Given the description of an element on the screen output the (x, y) to click on. 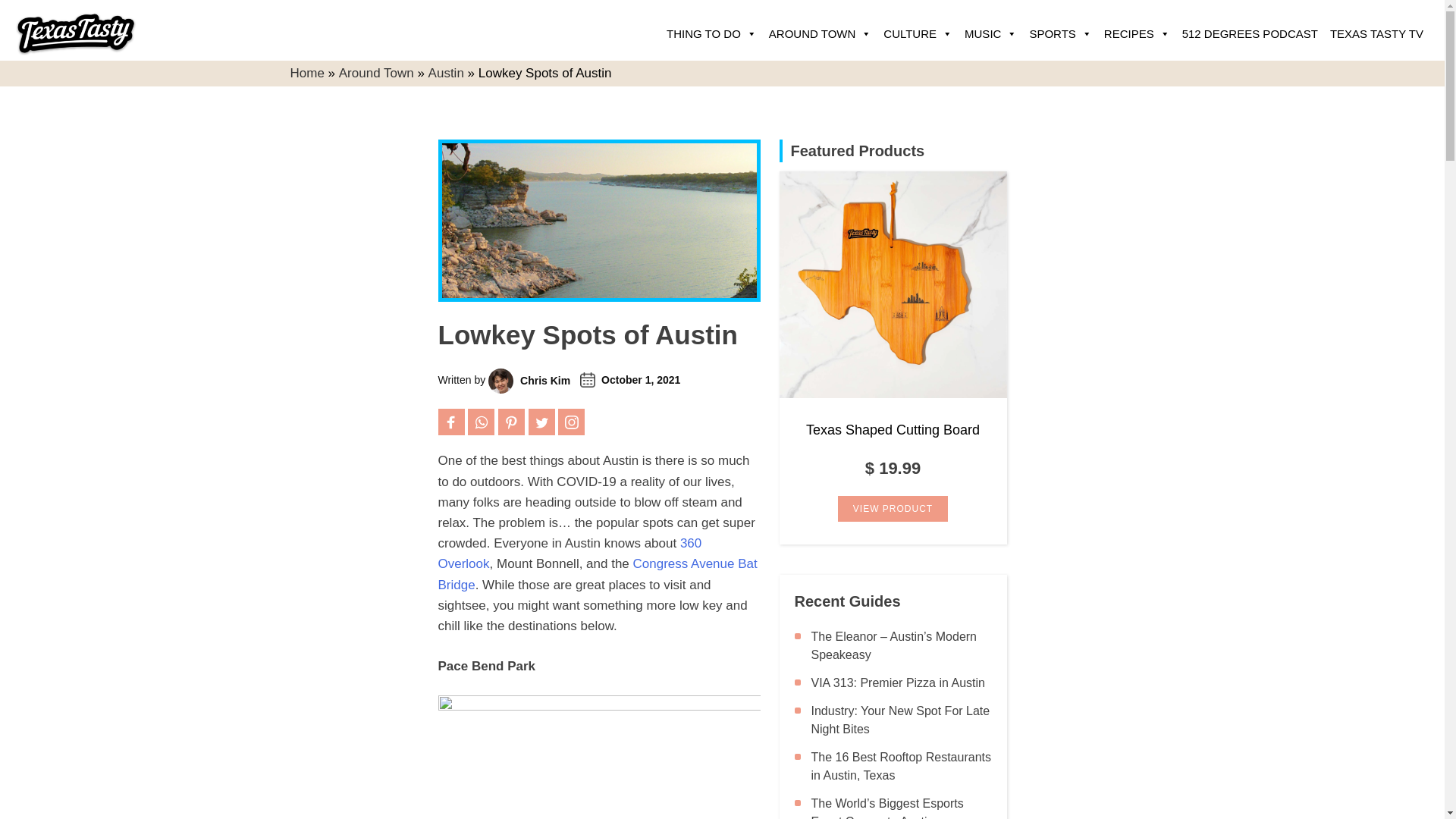
Texas Shaped Cutting Board (892, 283)
Facebook (451, 421)
Twitter (541, 421)
Whatsapp (481, 421)
AROUND TOWN (819, 33)
THING TO DO (711, 33)
Pinterest (510, 421)
Instagram (571, 421)
